Given the description of an element on the screen output the (x, y) to click on. 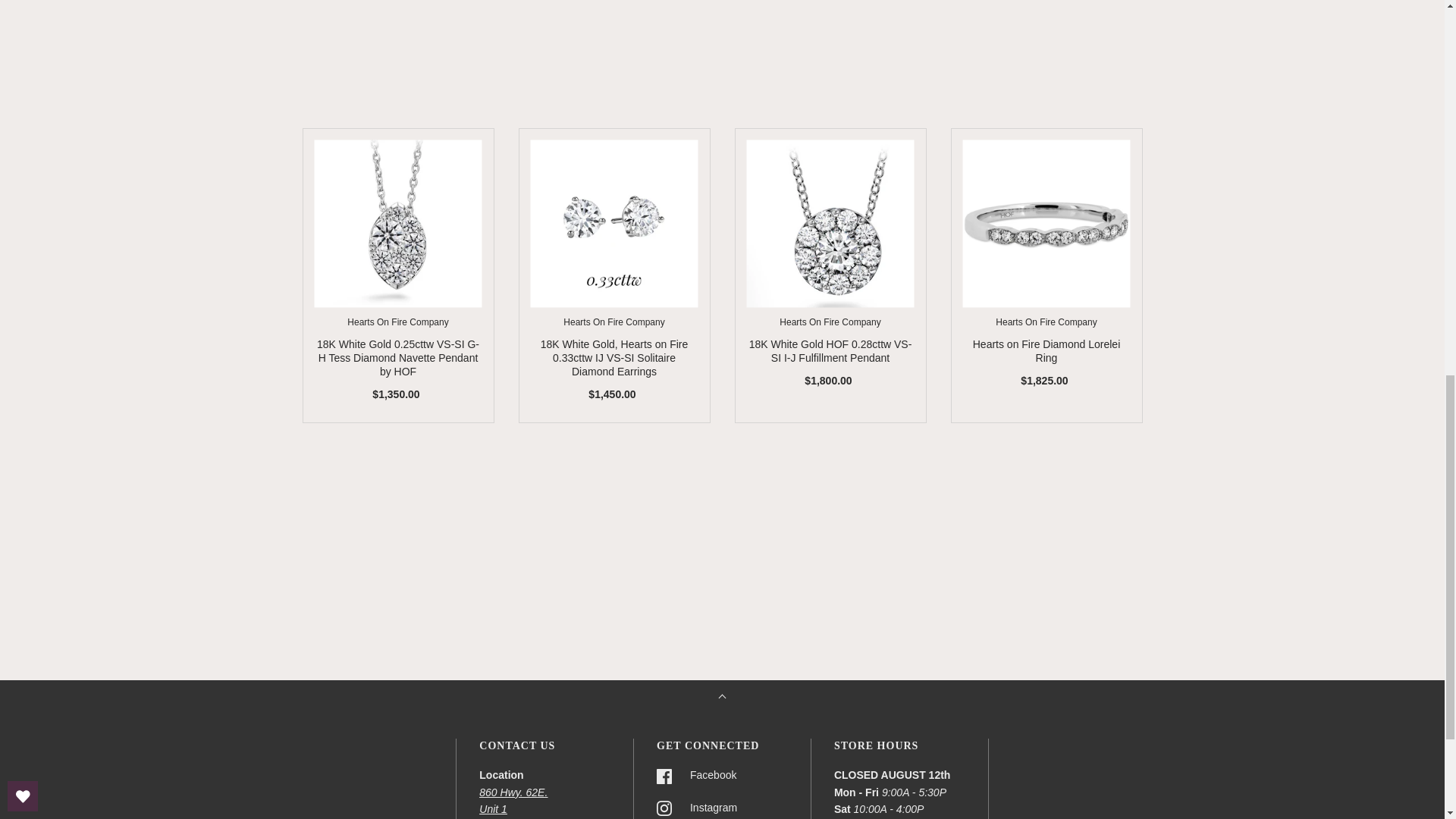
Instagram icon (663, 807)
Hearts On Fire Company (397, 321)
Google Link (492, 808)
Google Link (513, 792)
Hearts On Fire Company (1045, 321)
Hearts On Fire Company (829, 321)
Hearts On Fire Company (613, 321)
Facebook icon (663, 776)
